Given the description of an element on the screen output the (x, y) to click on. 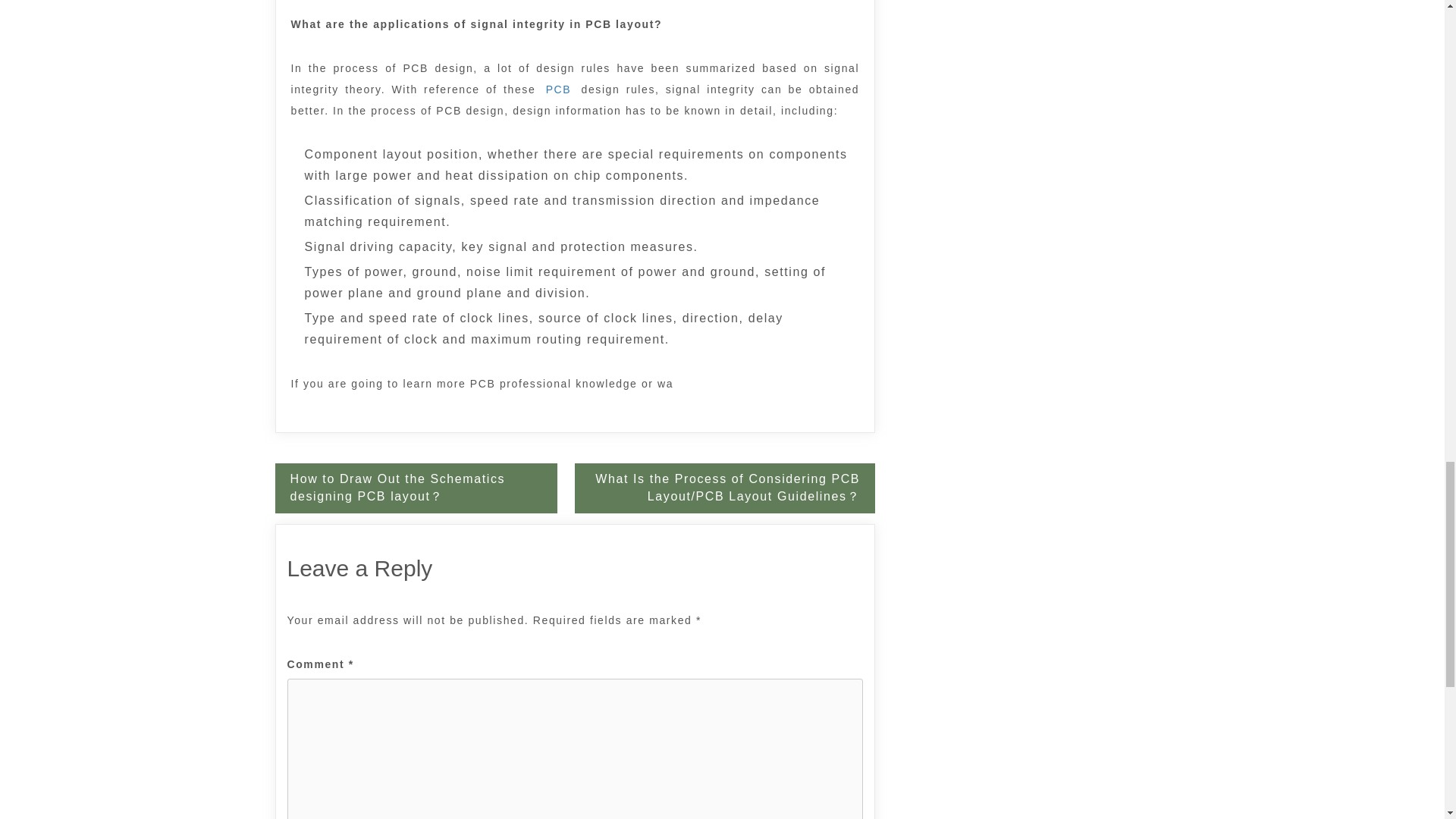
PCB (558, 89)
